Given the description of an element on the screen output the (x, y) to click on. 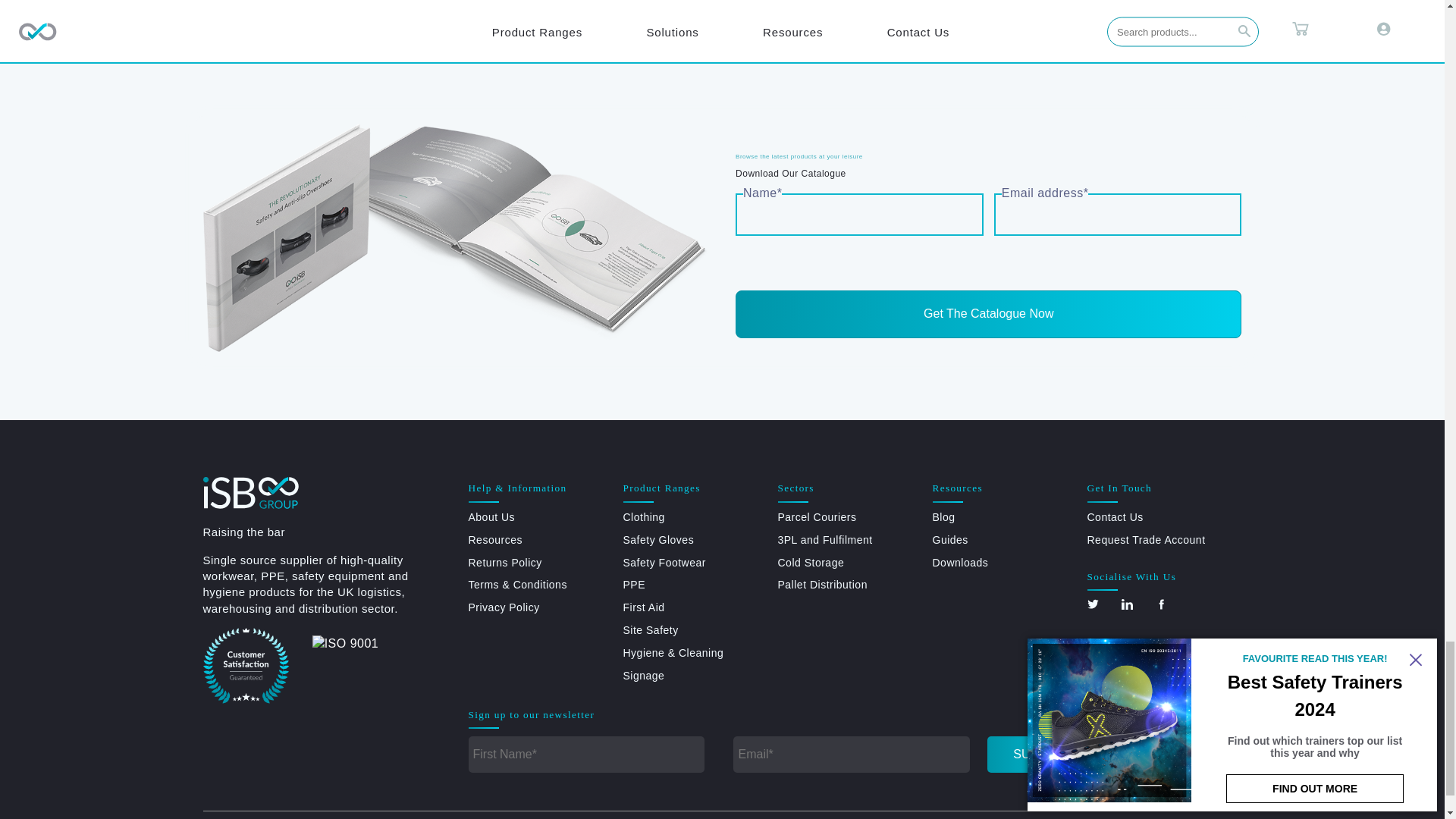
Subscribe (1047, 754)
Get the catalogue now (988, 314)
